Given the description of an element on the screen output the (x, y) to click on. 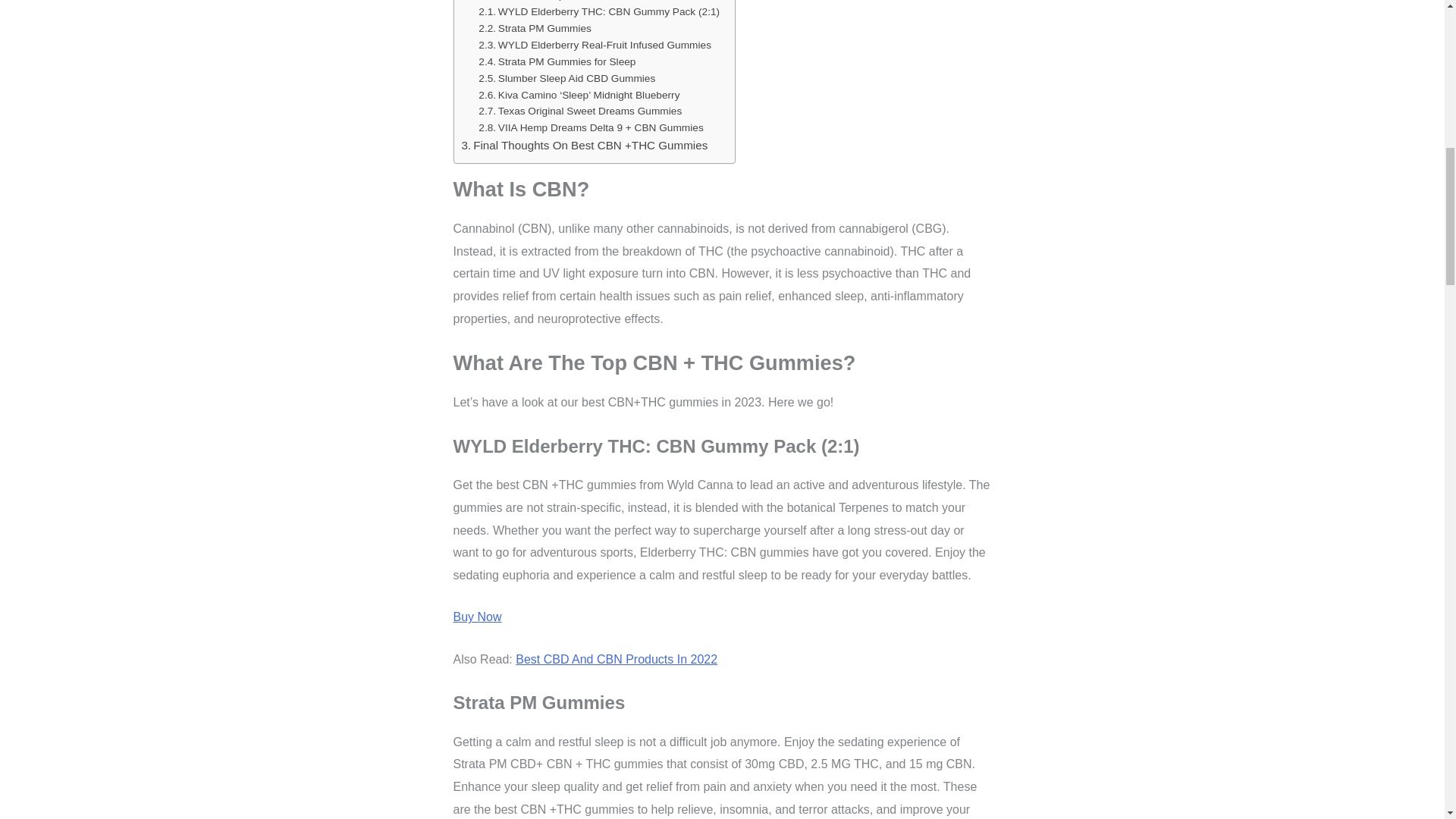
Strata PM Gummies (535, 28)
Strata PM Gummies (535, 28)
Texas Original Sweet Dreams Gummies (580, 111)
Slumber Sleep Aid CBD Gummies (567, 78)
Strata PM Gummies for Sleep (556, 62)
Strata PM Gummies for Sleep (556, 62)
WYLD Elderberry Real-Fruit Infused Gummies (595, 45)
Slumber Sleep Aid CBD Gummies (567, 78)
WYLD Elderberry Real-Fruit Infused Gummies (595, 45)
Buy Now (477, 616)
Texas Original Sweet Dreams Gummies (580, 111)
Best CBD And CBN Products In 2022 (616, 658)
